Given the description of an element on the screen output the (x, y) to click on. 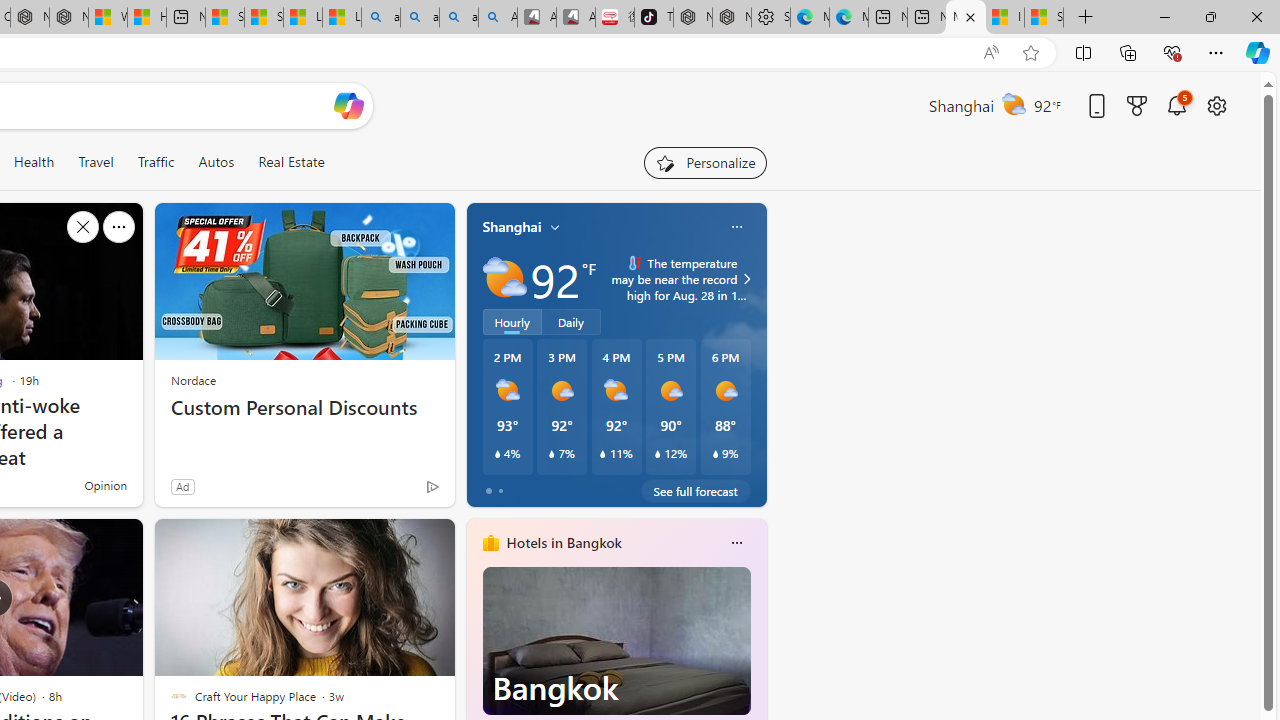
Custom Personal Discounts (304, 407)
previous (476, 670)
Autos (216, 162)
Partly sunny (504, 278)
